Given the description of an element on the screen output the (x, y) to click on. 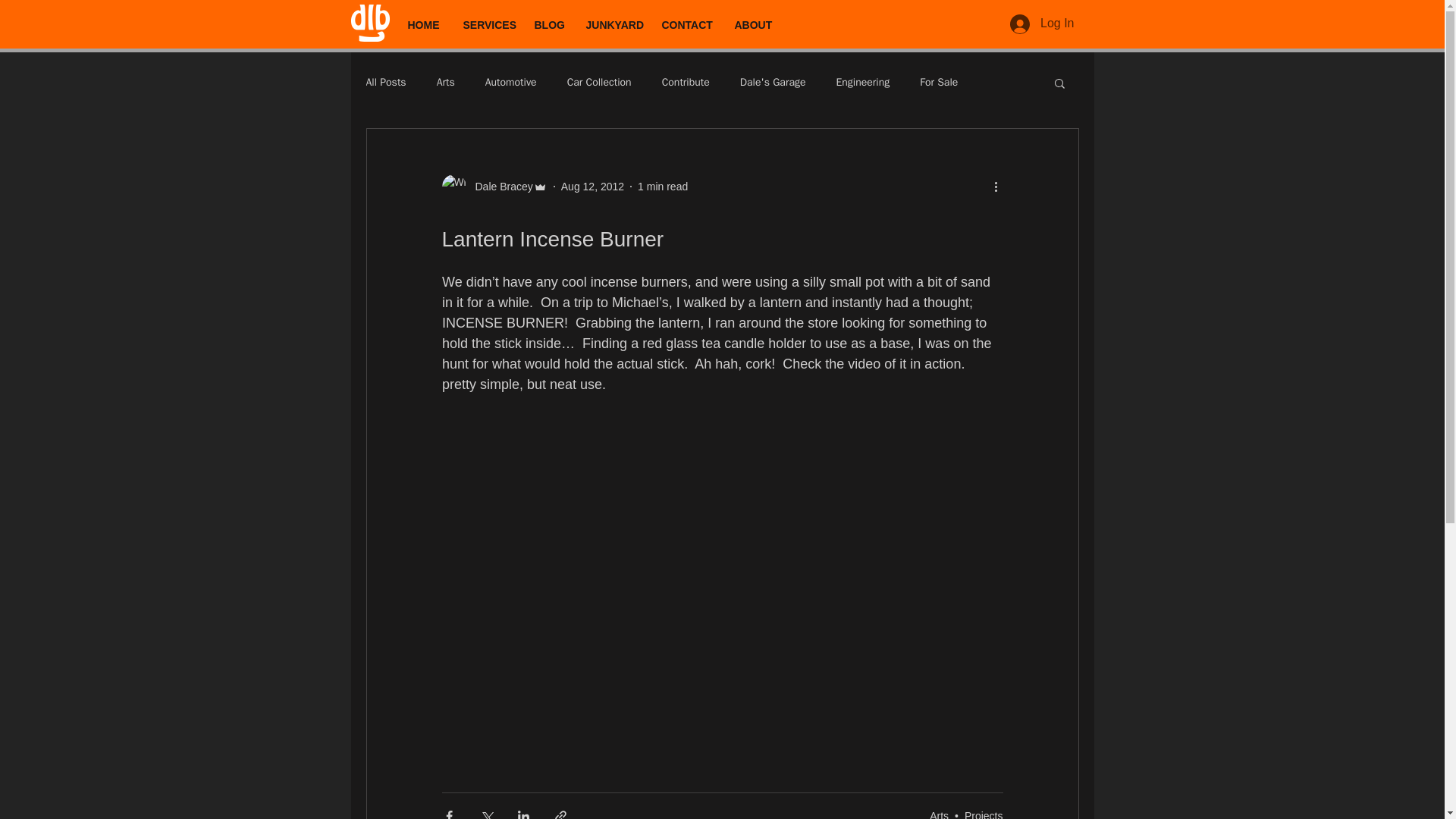
Log In (1041, 23)
HOME (423, 24)
CONTACT (686, 24)
All Posts (385, 82)
BLOG (548, 24)
Automotive (510, 82)
1 min read (662, 186)
Dale's Garage (772, 82)
Contribute (686, 82)
For Sale (939, 82)
Car Collection (599, 82)
Dale Bracey (494, 186)
Dale Bracey (498, 186)
Engineering (862, 82)
Arts (445, 82)
